Given the description of an element on the screen output the (x, y) to click on. 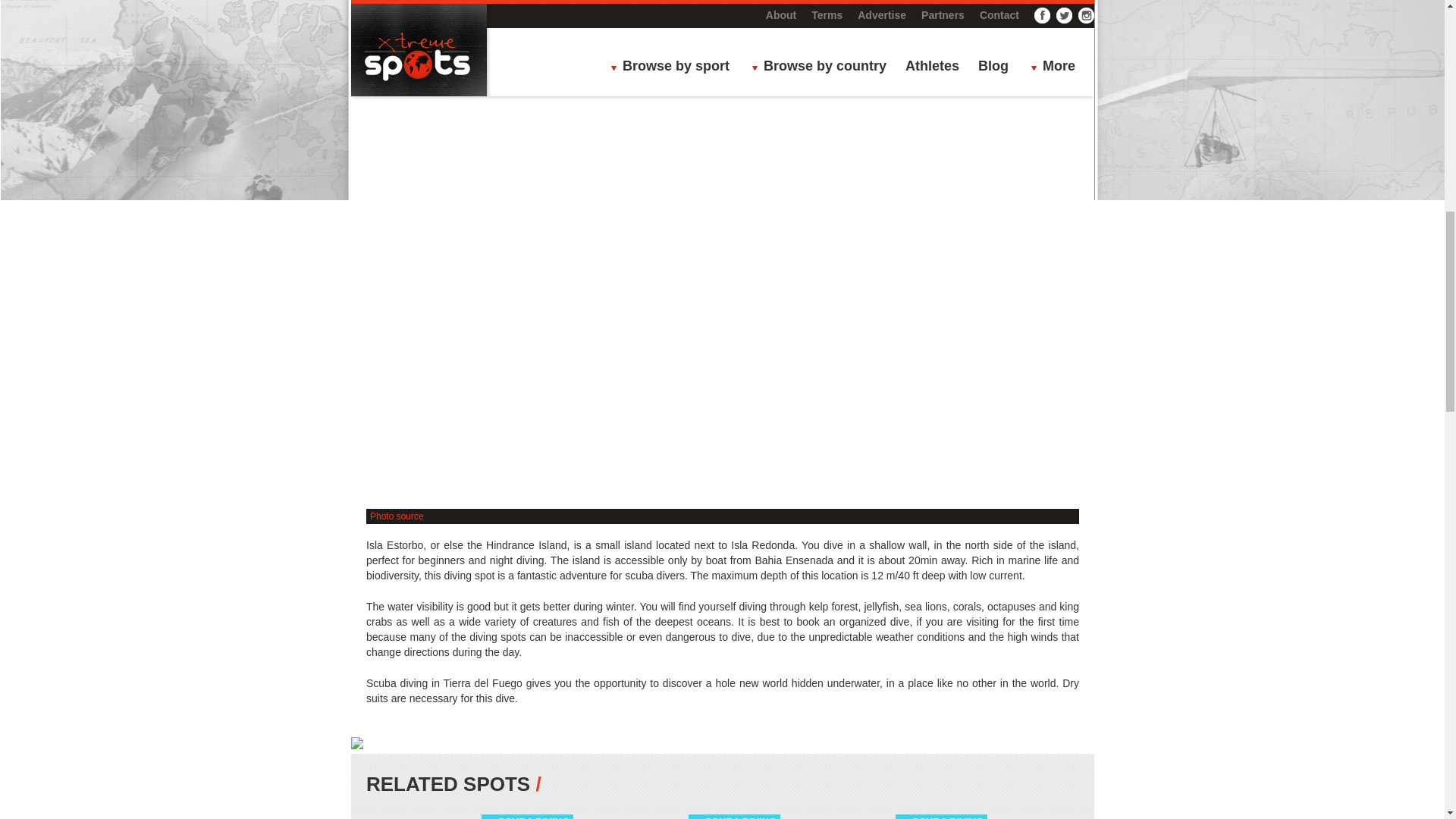
Photo source (396, 516)
SCUBA DIVING (533, 817)
